Given the description of an element on the screen output the (x, y) to click on. 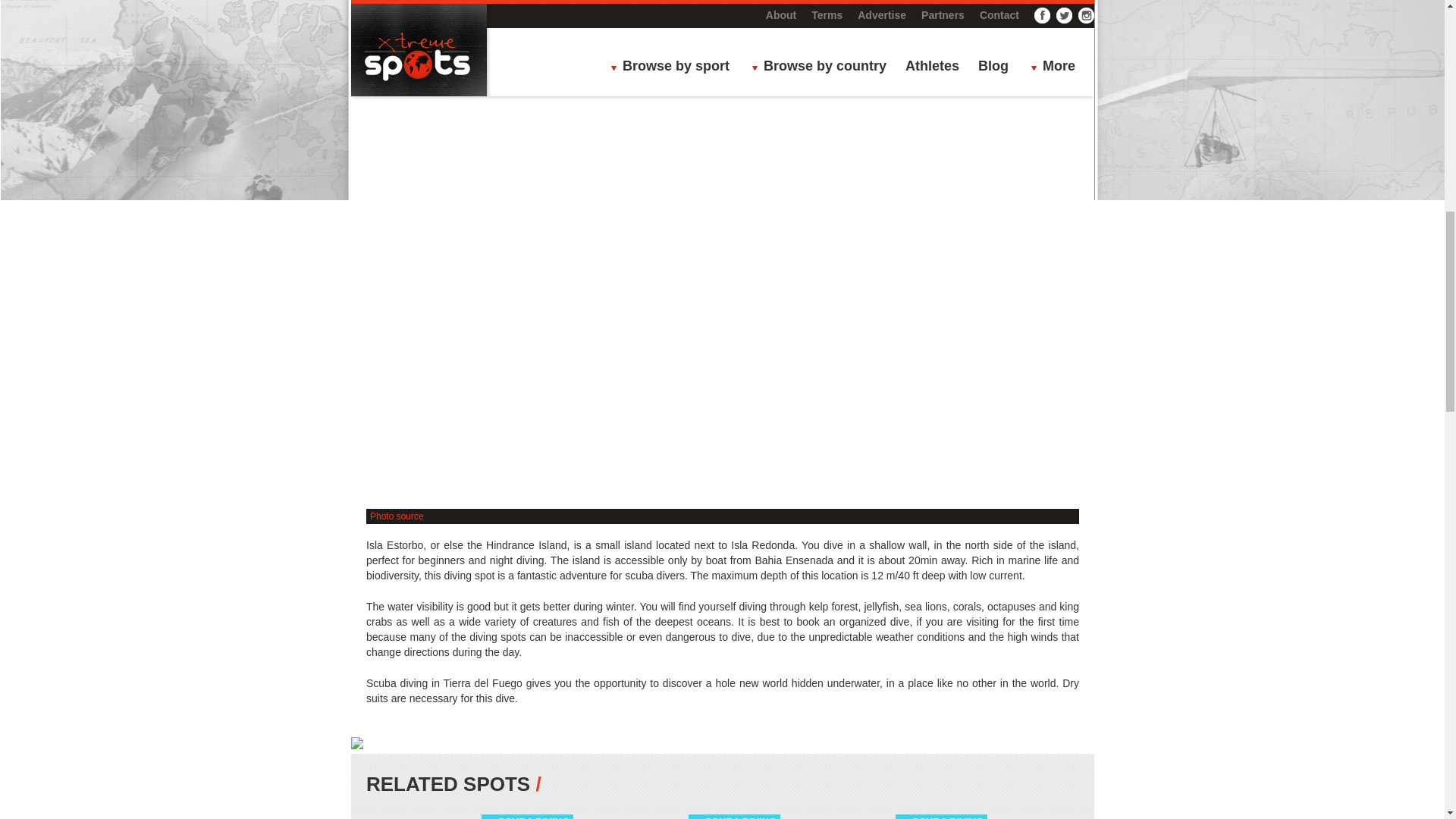
Photo source (396, 516)
SCUBA DIVING (533, 817)
